Given the description of an element on the screen output the (x, y) to click on. 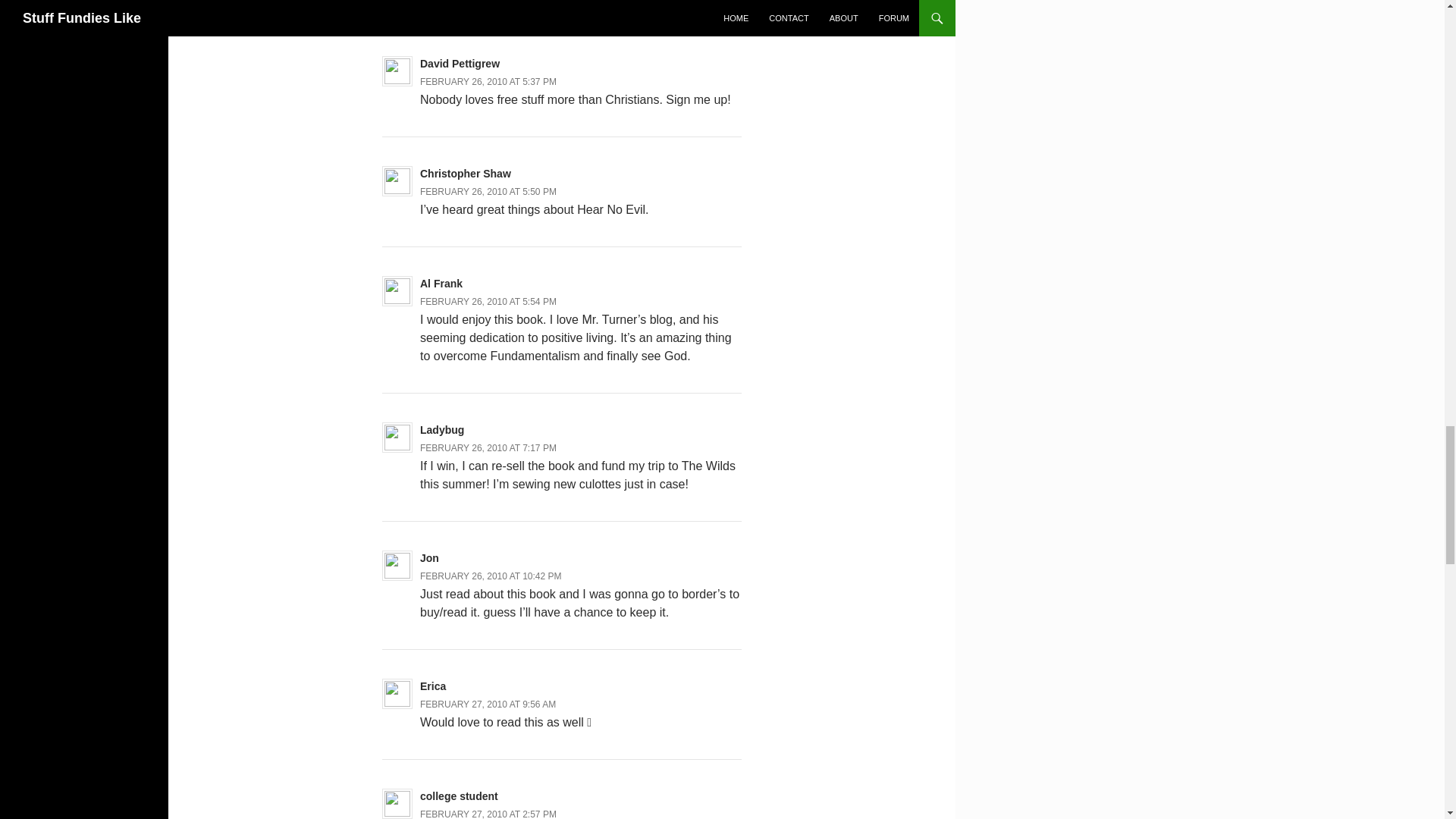
FEBRUARY 26, 2010 AT 5:54 PM (488, 301)
FEBRUARY 27, 2010 AT 2:57 PM (488, 814)
FEBRUARY 26, 2010 AT 10:42 PM (491, 575)
FEBRUARY 26, 2010 AT 5:37 PM (488, 81)
David Pettigrew (459, 63)
Erica (432, 686)
FEBRUARY 26, 2010 AT 5:50 PM (488, 191)
FEBRUARY 26, 2010 AT 7:17 PM (488, 448)
FEBRUARY 27, 2010 AT 9:56 AM (488, 704)
